Given the description of an element on the screen output the (x, y) to click on. 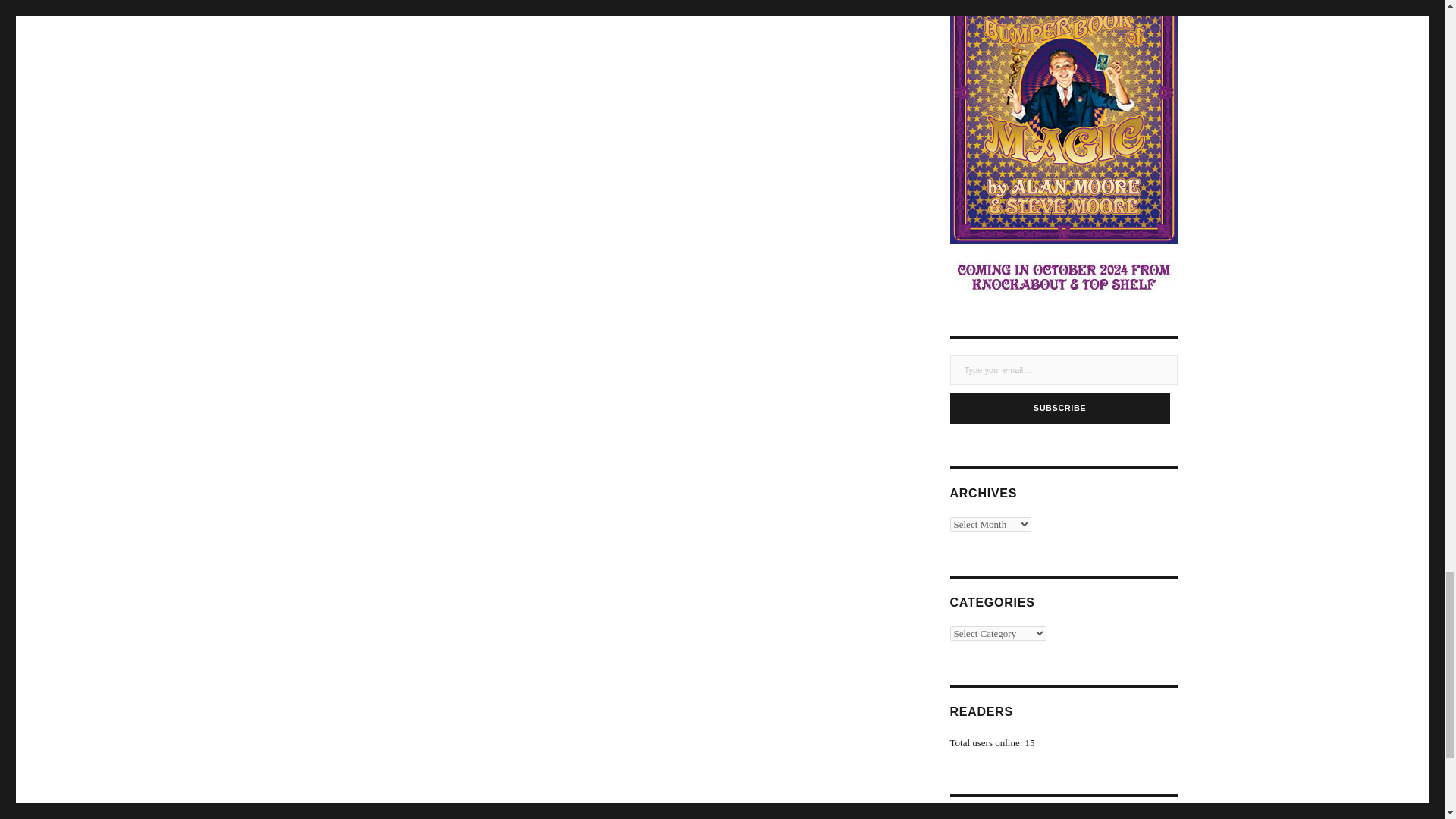
Please fill in this field. (1062, 369)
